Given the description of an element on the screen output the (x, y) to click on. 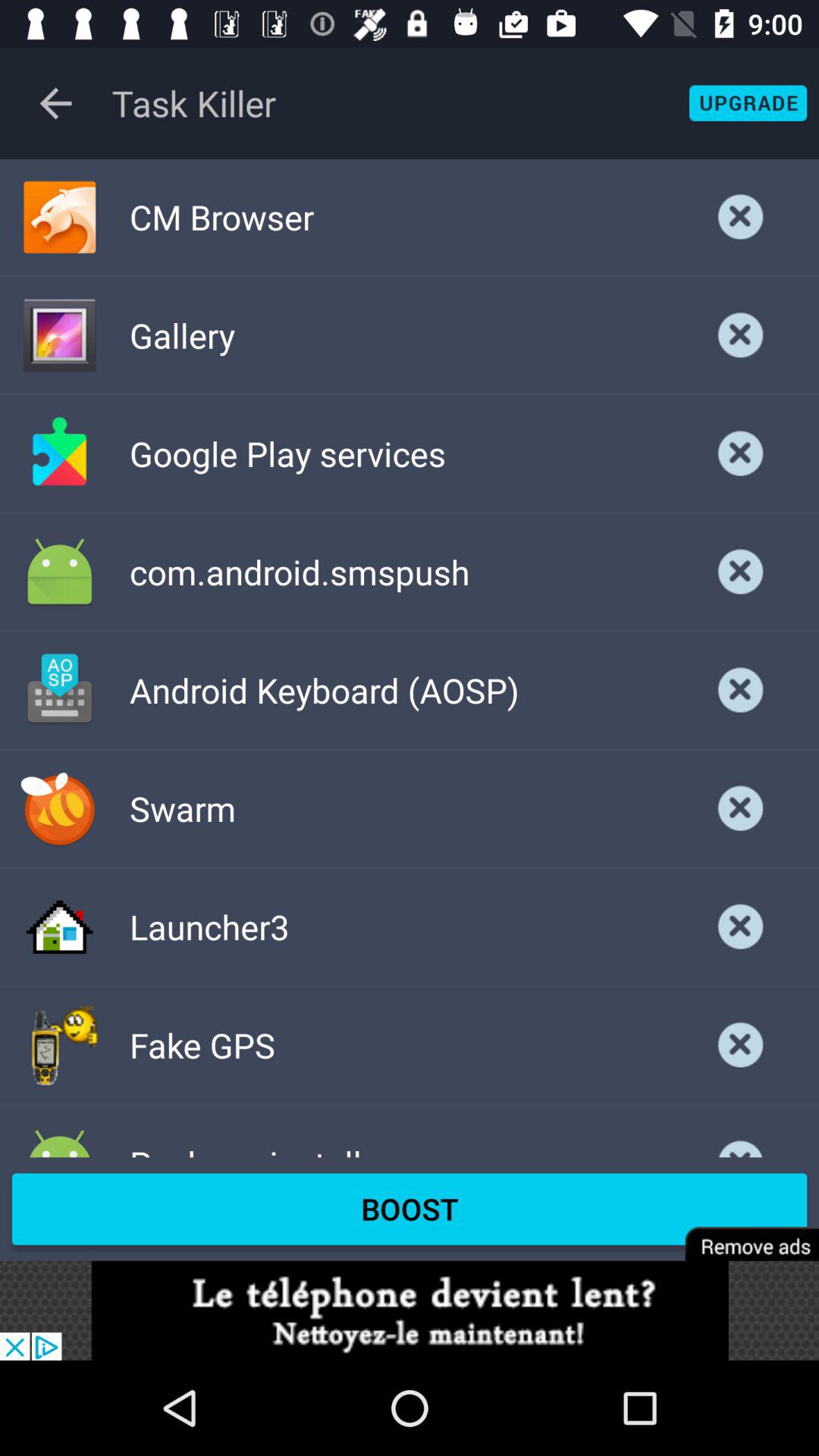
apps of the activeded (748, 103)
